Given the description of an element on the screen output the (x, y) to click on. 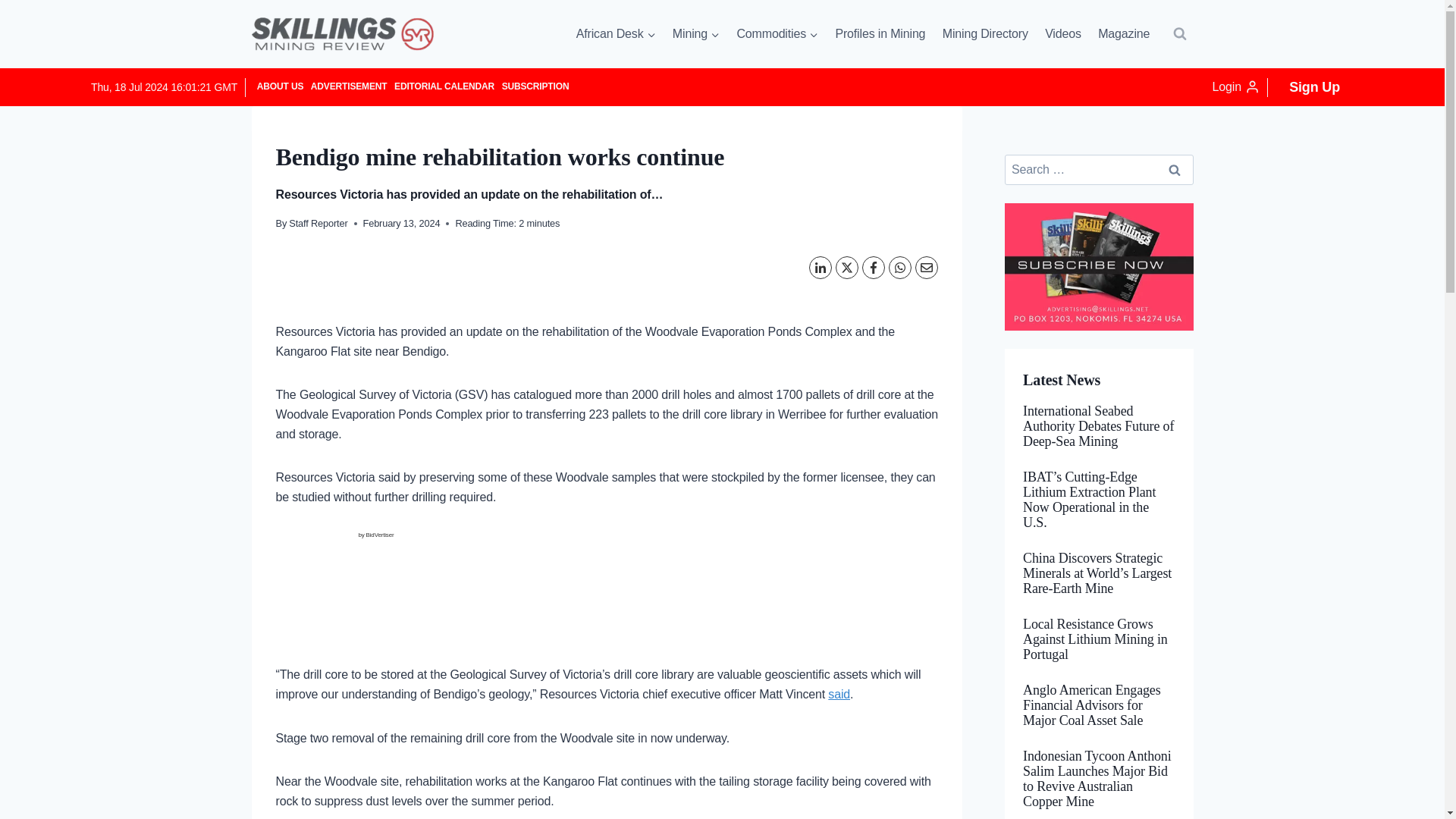
Commodities (777, 34)
SUBSCRIPTION (534, 86)
EDITORIAL CALENDAR (443, 86)
Search (1174, 169)
ABOUT US (280, 86)
Search (1174, 169)
Profiles in Mining (880, 34)
Videos (1062, 34)
Mining Directory (985, 34)
ADVERTISEMENT (348, 86)
Magazine (1123, 34)
Login (1236, 87)
Sign Up (1314, 86)
African Desk (615, 34)
Mining (696, 34)
